Given the description of an element on the screen output the (x, y) to click on. 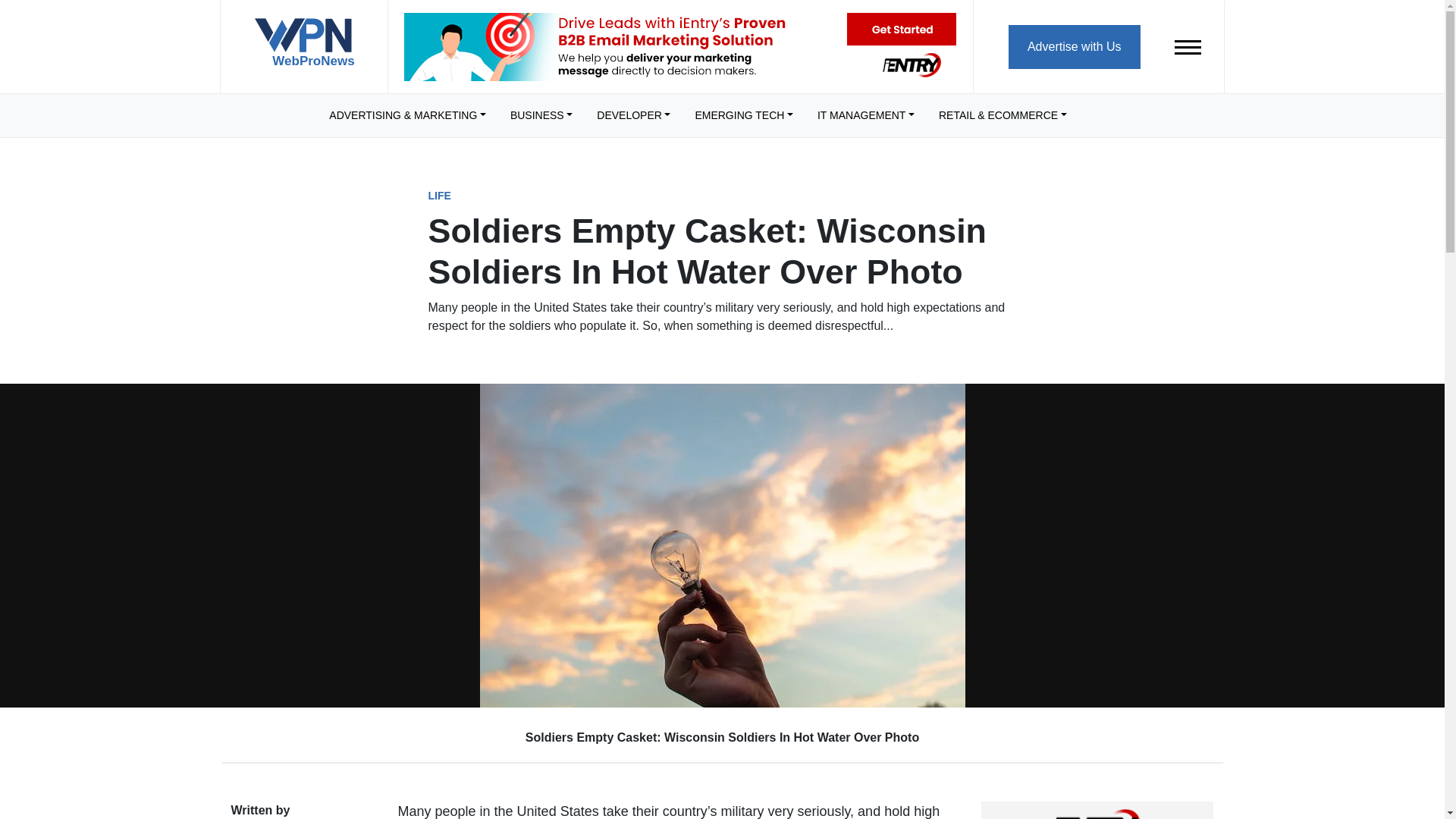
WebProNews (303, 49)
Advertise with Us (1074, 45)
